Given the description of an element on the screen output the (x, y) to click on. 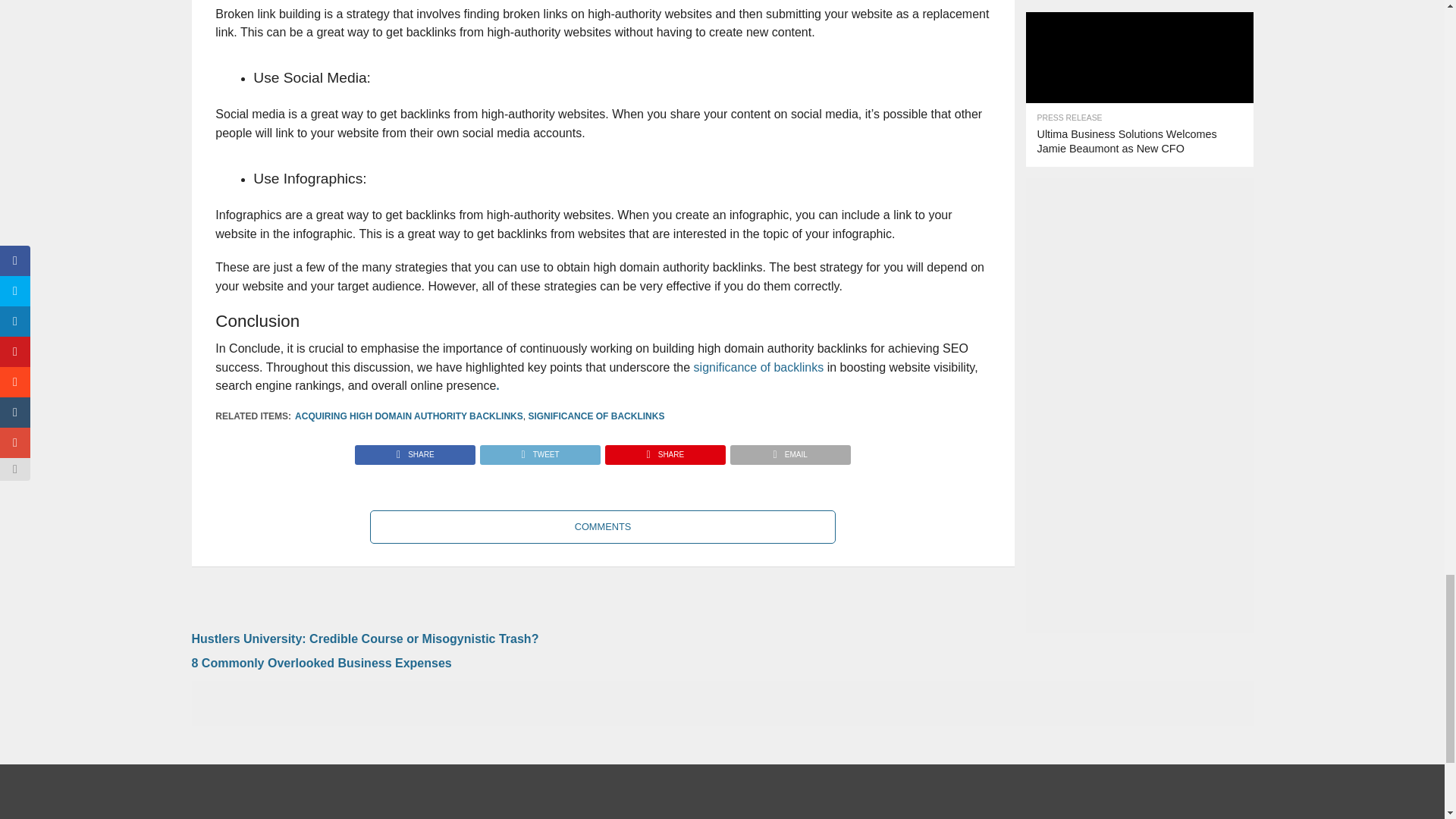
Share on Facebook (415, 450)
Pin This Post (664, 450)
Tweet This Post (539, 450)
